Given the description of an element on the screen output the (x, y) to click on. 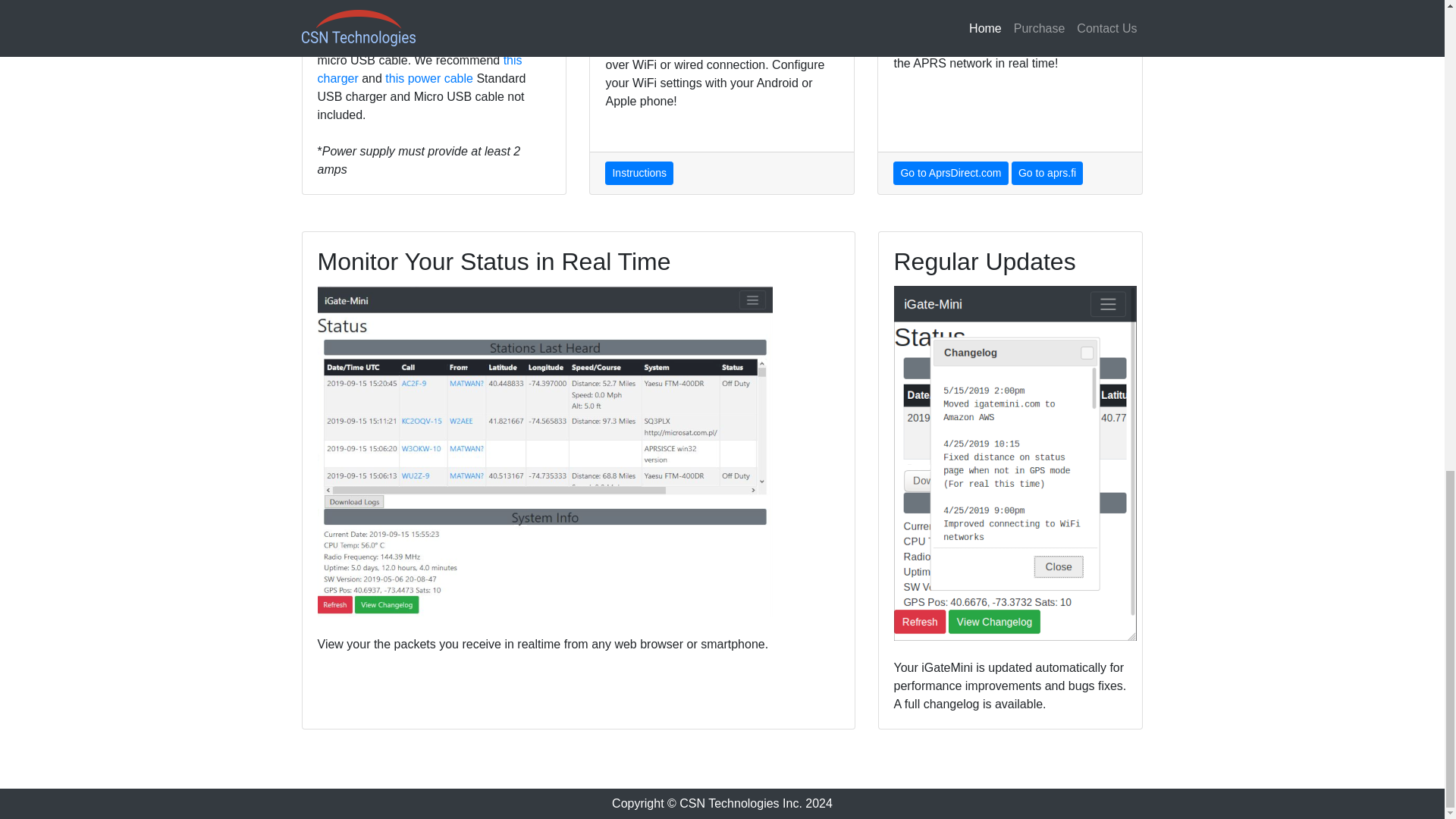
this power cable (429, 78)
Go to AprsDirect.com (950, 173)
Instructions (638, 173)
this charger (419, 69)
Go to aprs.fi (1047, 173)
